Given the description of an element on the screen output the (x, y) to click on. 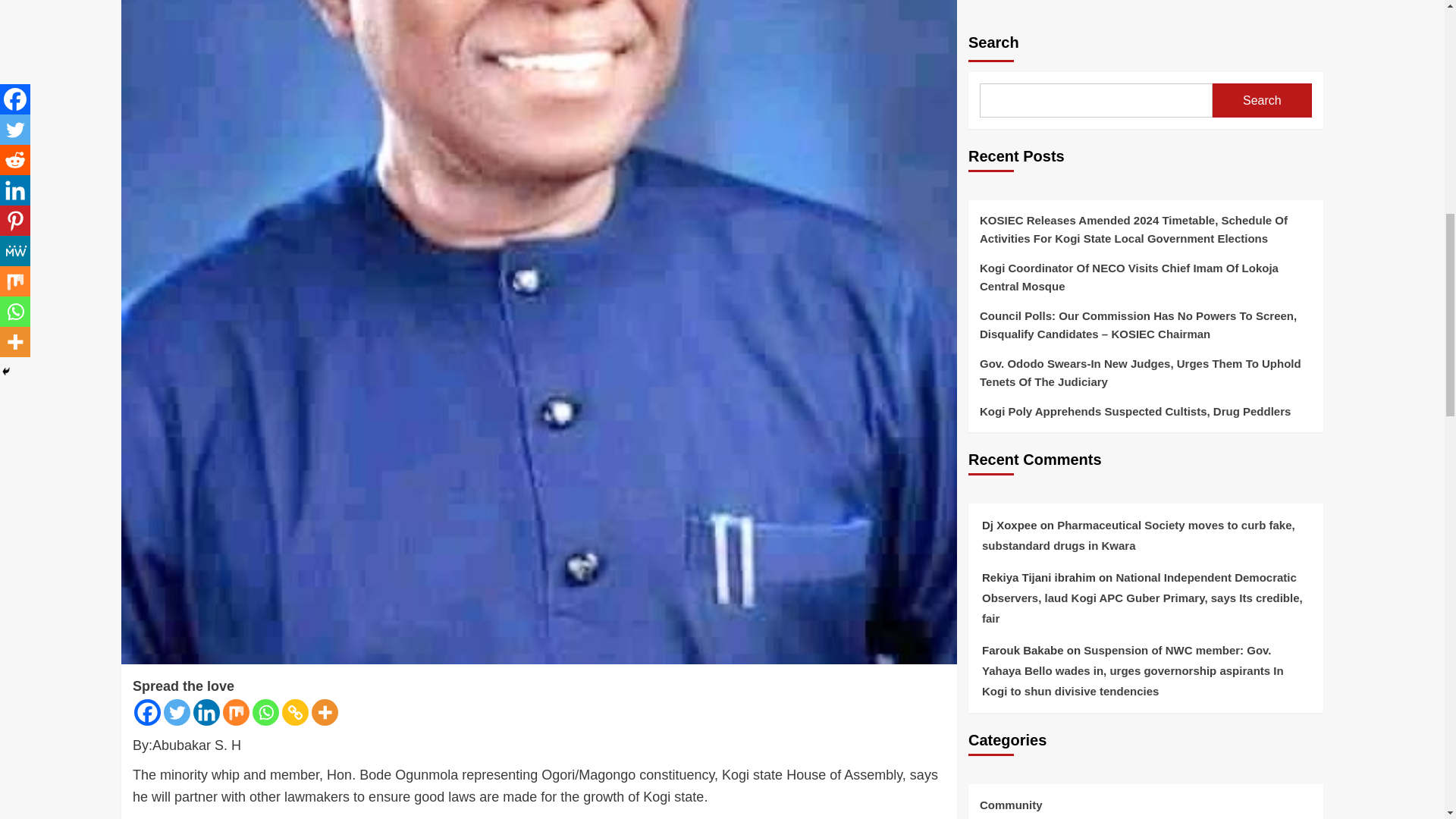
Whatsapp (265, 712)
More (324, 712)
Copy Link (295, 712)
Facebook (146, 712)
Mix (235, 712)
Linkedin (206, 712)
Twitter (176, 712)
